Given the description of an element on the screen output the (x, y) to click on. 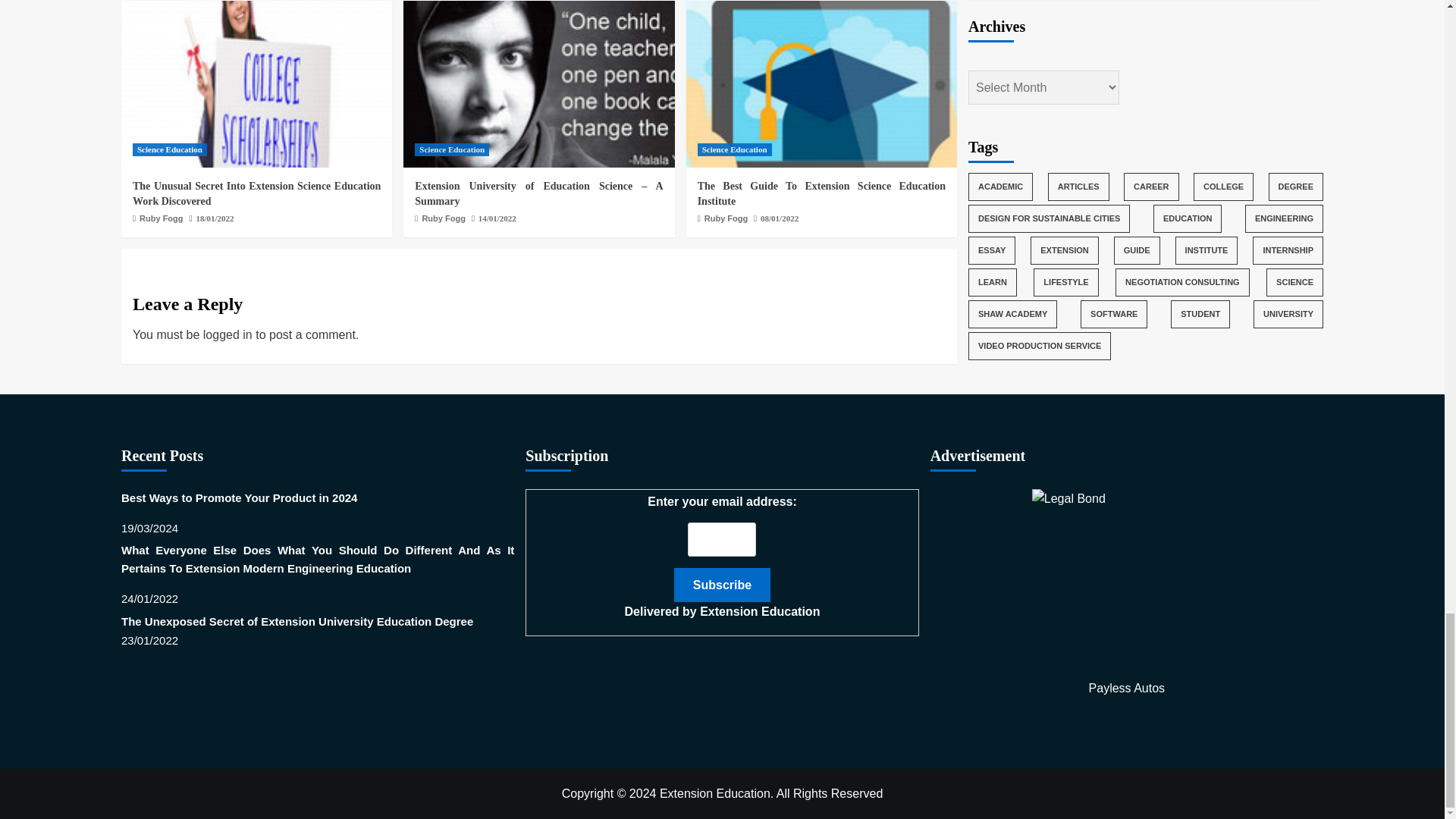
Subscribe (722, 584)
The Best Guide To Extension Science Education Institute (820, 83)
Ruby Fogg (443, 217)
Science Education (169, 149)
Science Education (451, 149)
Extension University of Education Science - A Summary (538, 83)
Ruby Fogg (161, 217)
